Given the description of an element on the screen output the (x, y) to click on. 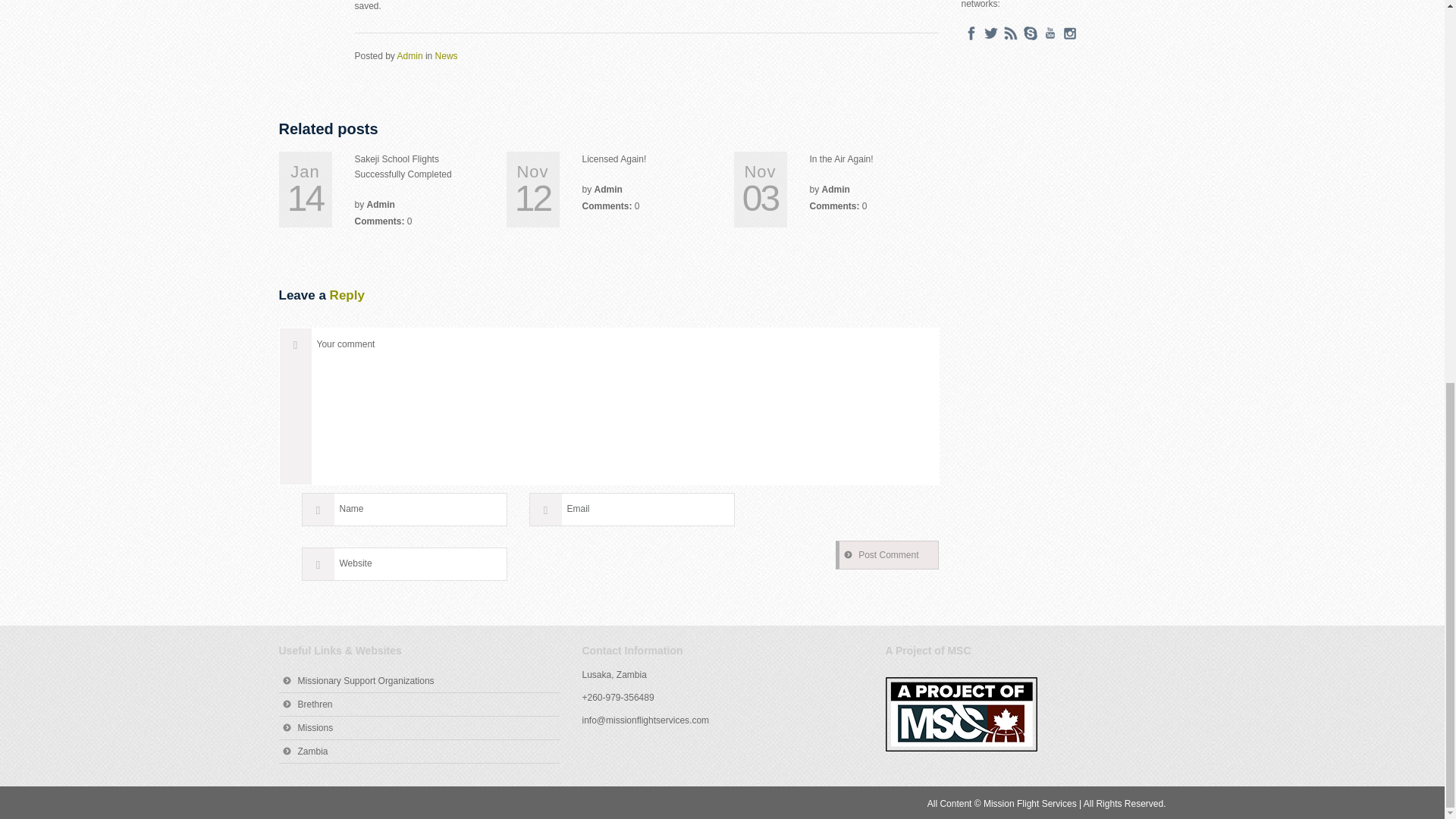
Sakeji School Flights Successfully Completed (403, 166)
In the Air Again! (841, 158)
Post Comment (886, 554)
Licensed Again! (614, 158)
Posts by Admin (410, 55)
Click to visit MSC (960, 714)
